Given the description of an element on the screen output the (x, y) to click on. 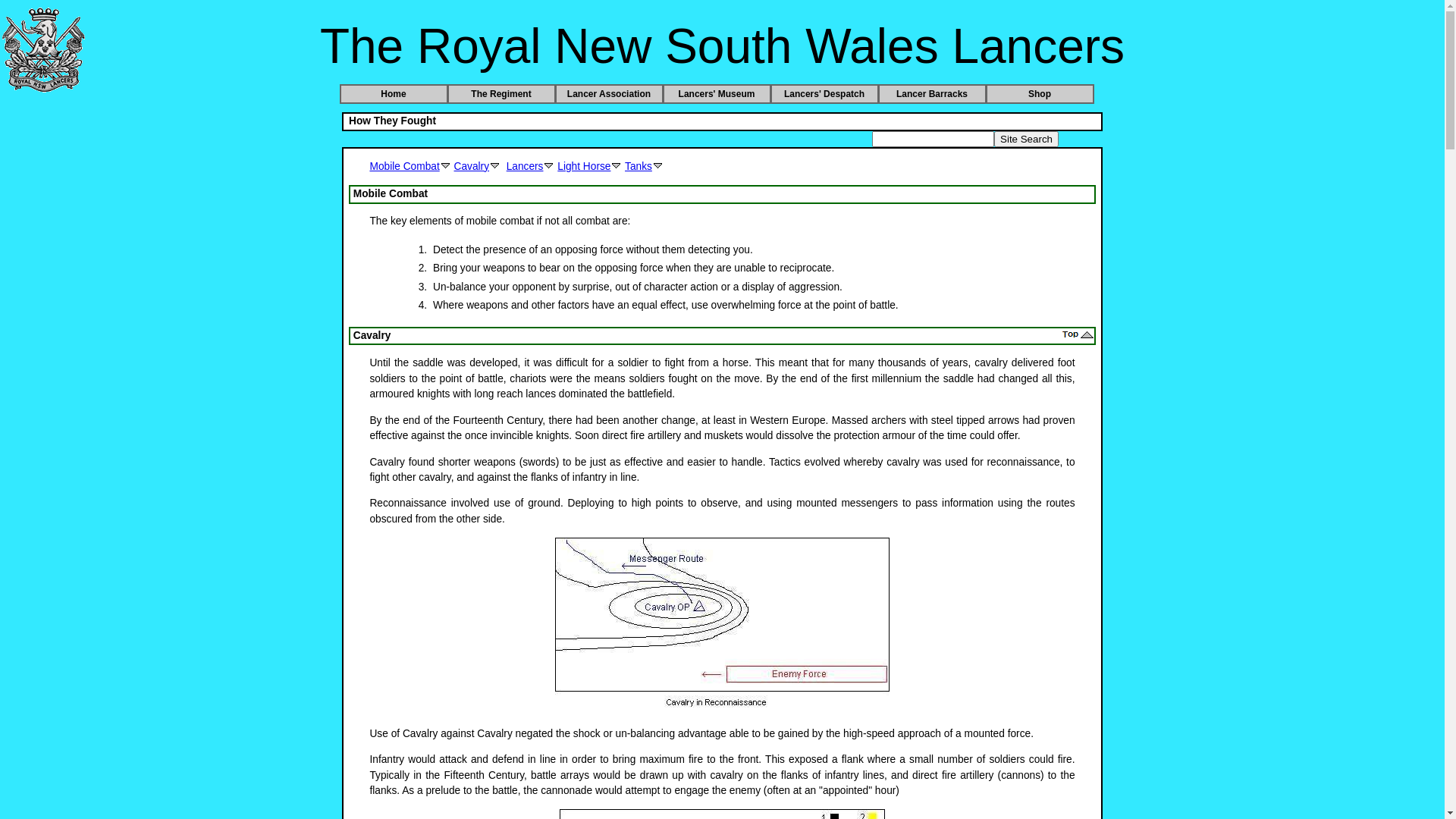
The Regiment Element type: text (501, 93)
Lancer Barracks Element type: text (932, 93)
Shop Element type: text (1039, 93)
Light Horse Element type: text (589, 166)
Lancers' Museum Element type: text (716, 93)
Lancers Element type: text (530, 166)
Cavalry Element type: text (477, 166)
Lancer Association Element type: text (609, 93)
Lancers' Despatch Element type: text (824, 93)
Home Element type: text (393, 93)
Mobile Combat Element type: text (409, 166)
Tanks Element type: text (643, 166)
Site Search Element type: text (1026, 139)
